Given the description of an element on the screen output the (x, y) to click on. 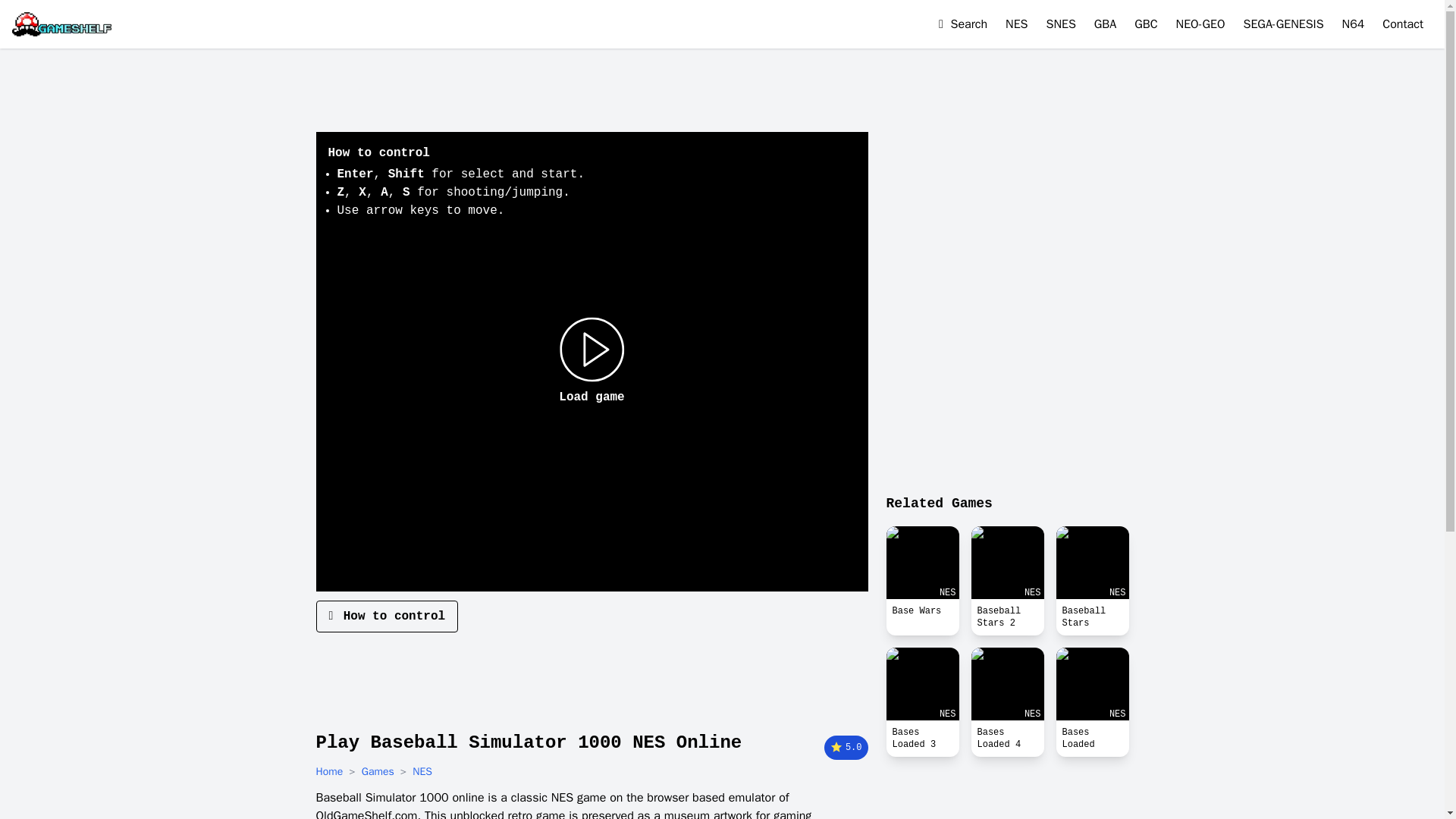
NEO-GEO (1200, 23)
Baseball Stars 2 (1007, 616)
Contact (1402, 24)
GBC (1145, 23)
Games (377, 771)
NES (1091, 562)
N64 (1353, 23)
Base Wars (921, 562)
Baseball Stars (1091, 616)
Bases Loaded 3 (921, 738)
